Given the description of an element on the screen output the (x, y) to click on. 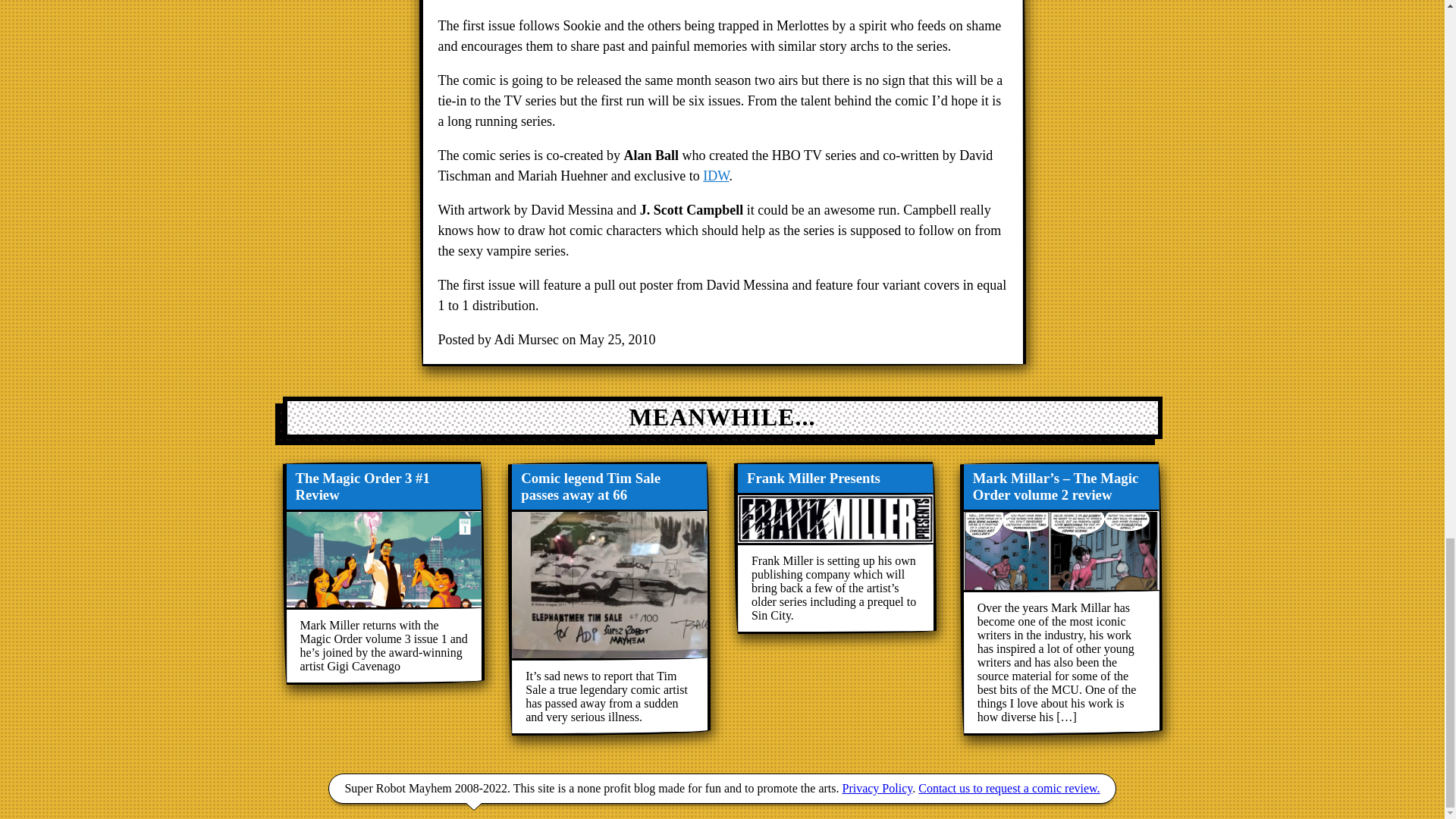
Frank Miller Presents (834, 547)
Contact us to request a comic review. (1008, 788)
Privacy Policy (876, 788)
true blood comic (716, 175)
IDW (716, 175)
